Given the description of an element on the screen output the (x, y) to click on. 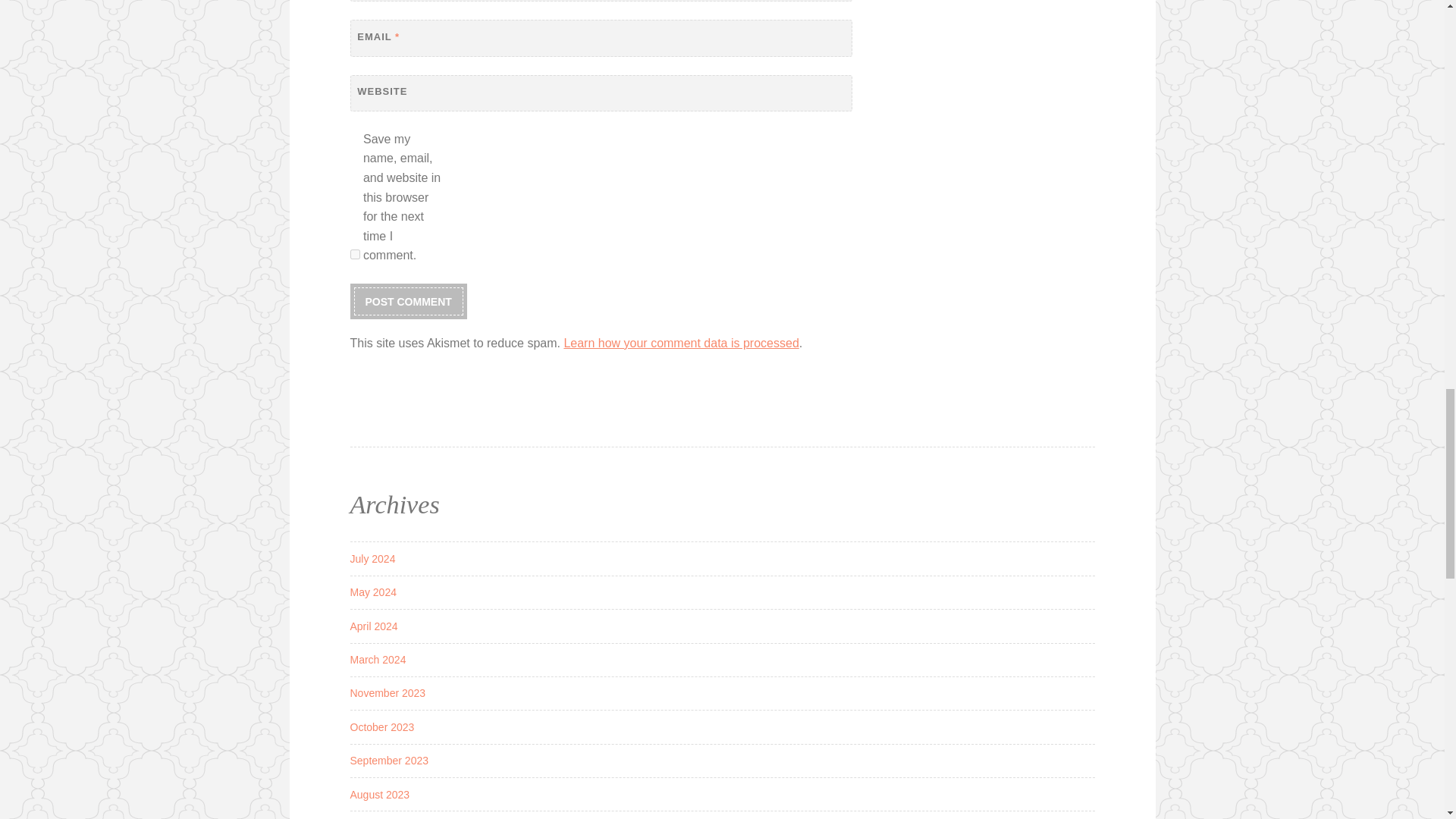
Post Comment (408, 301)
Learn how your comment data is processed (680, 342)
yes (354, 254)
Post Comment (408, 301)
